Given the description of an element on the screen output the (x, y) to click on. 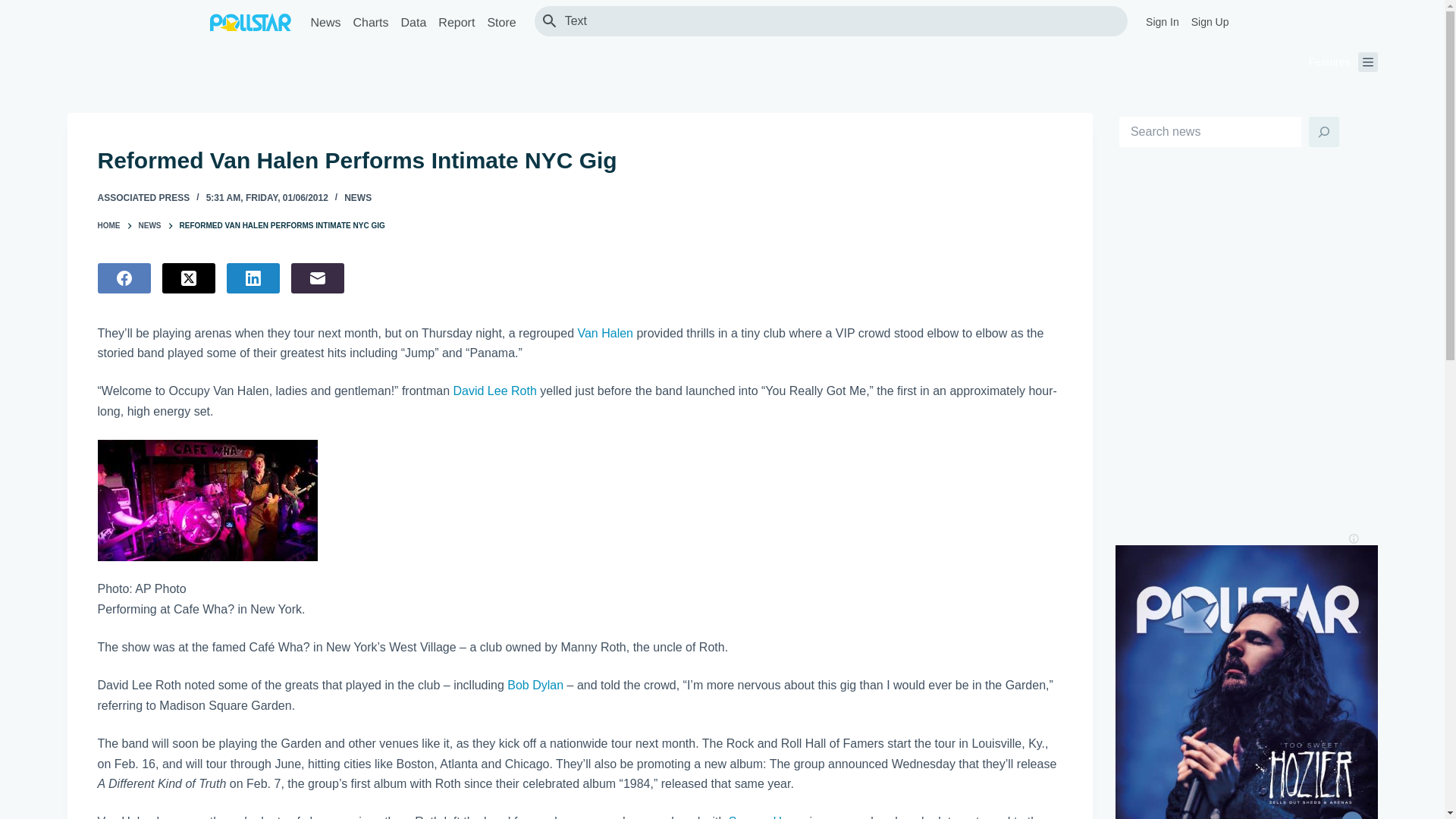
Text (838, 20)
Reformed Van Halen Performs Intimate NYC Gig (579, 160)
Posts by Associated Press (143, 197)
Text (838, 20)
Skip to content (15, 7)
